Given the description of an element on the screen output the (x, y) to click on. 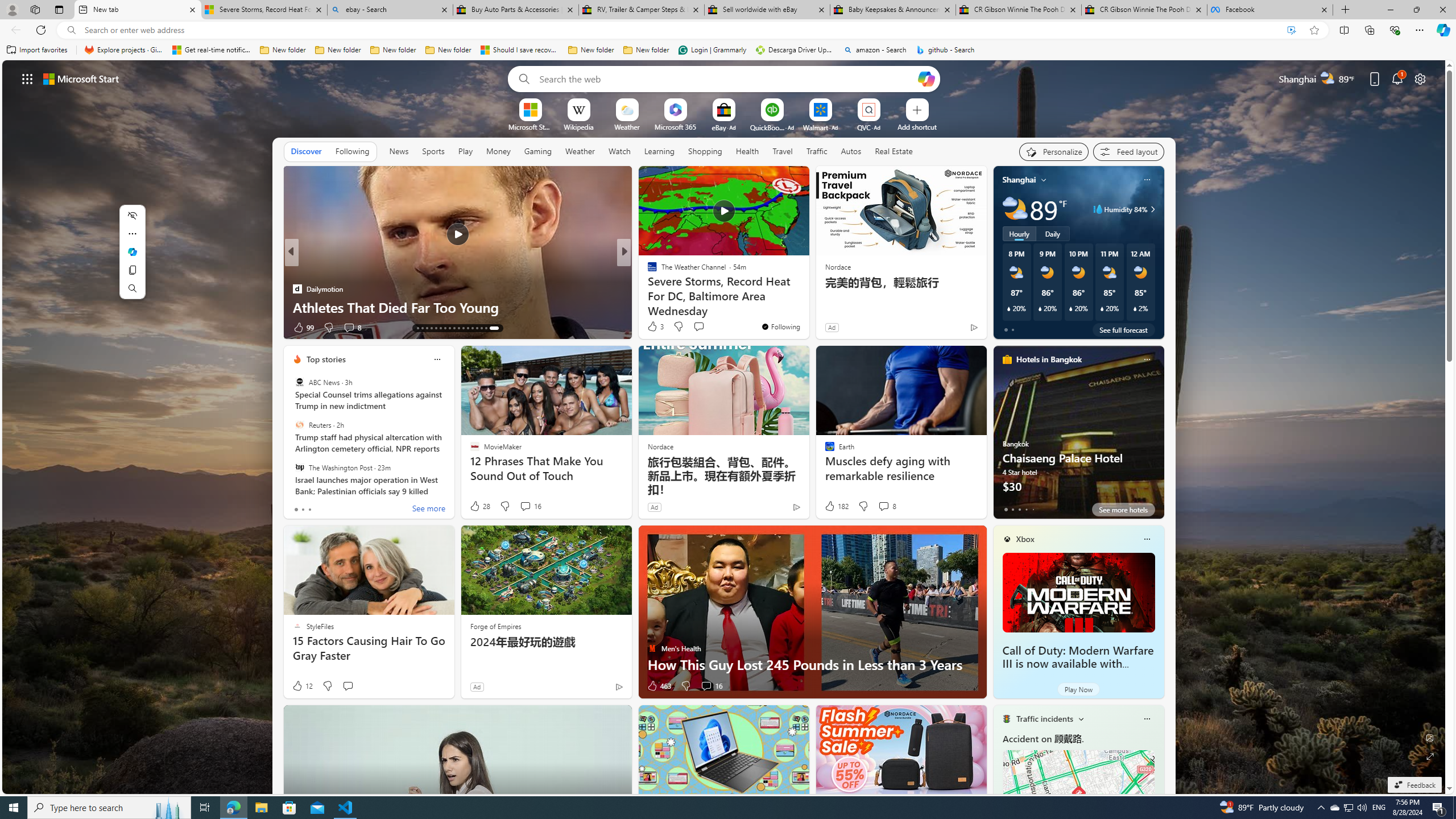
Facebook (1270, 9)
Import favorites (36, 49)
Expand background (1430, 756)
View comments 5 Comment (344, 327)
Travel (782, 151)
Copy (132, 270)
Edit Background (1430, 737)
Microsoft 365 (675, 126)
Enhance video (1291, 29)
32 Like (652, 327)
Spotlight Feature (647, 270)
